Given the description of an element on the screen output the (x, y) to click on. 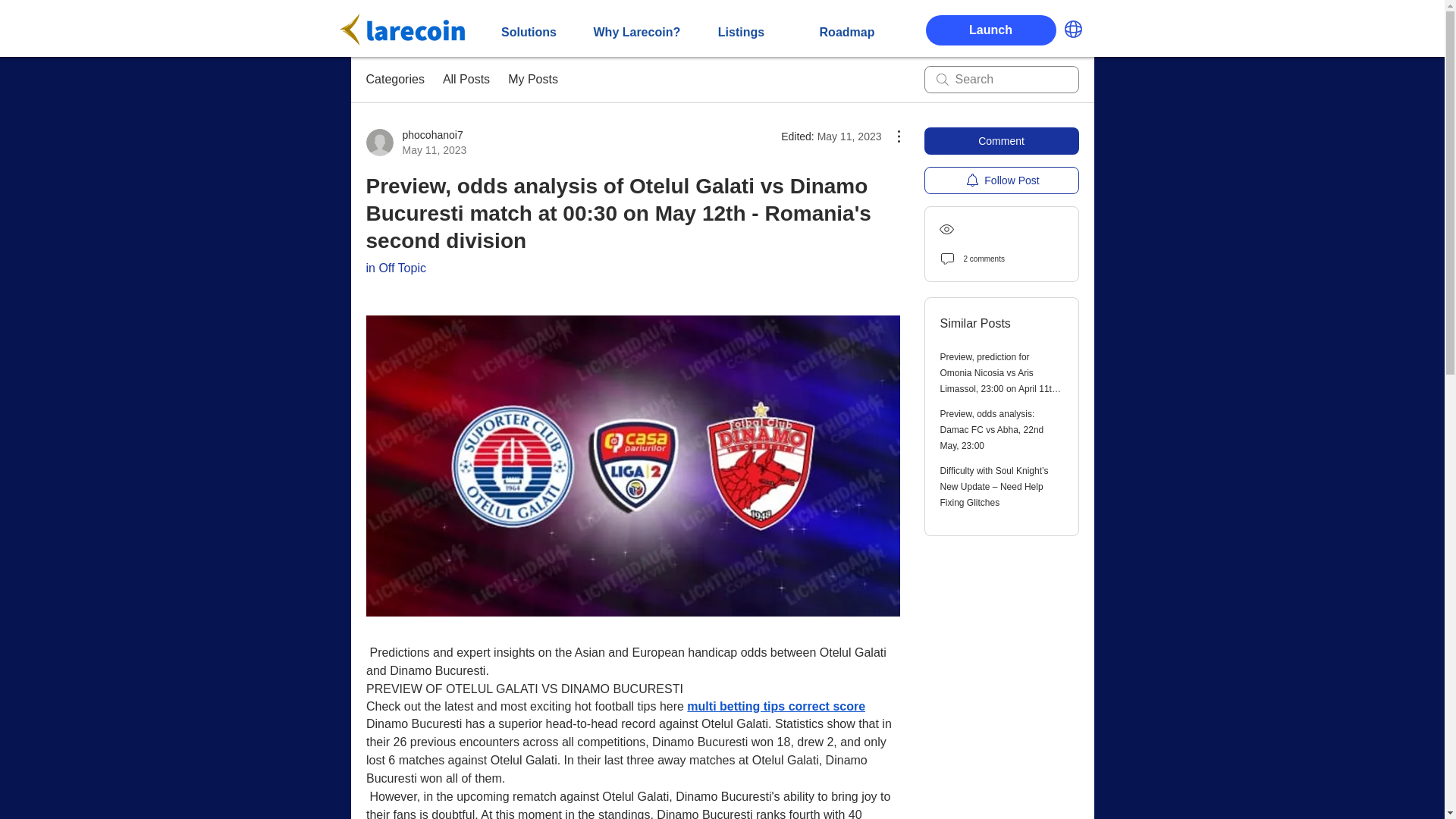
Preview, odds analysis: Damac FC vs Abha, 22nd May, 23:00 (991, 429)
All Posts (465, 79)
Listings (415, 142)
multi betting tips correct score (741, 32)
My Posts (775, 706)
Solutions (532, 79)
Categories (529, 32)
Launch (394, 79)
